Given the description of an element on the screen output the (x, y) to click on. 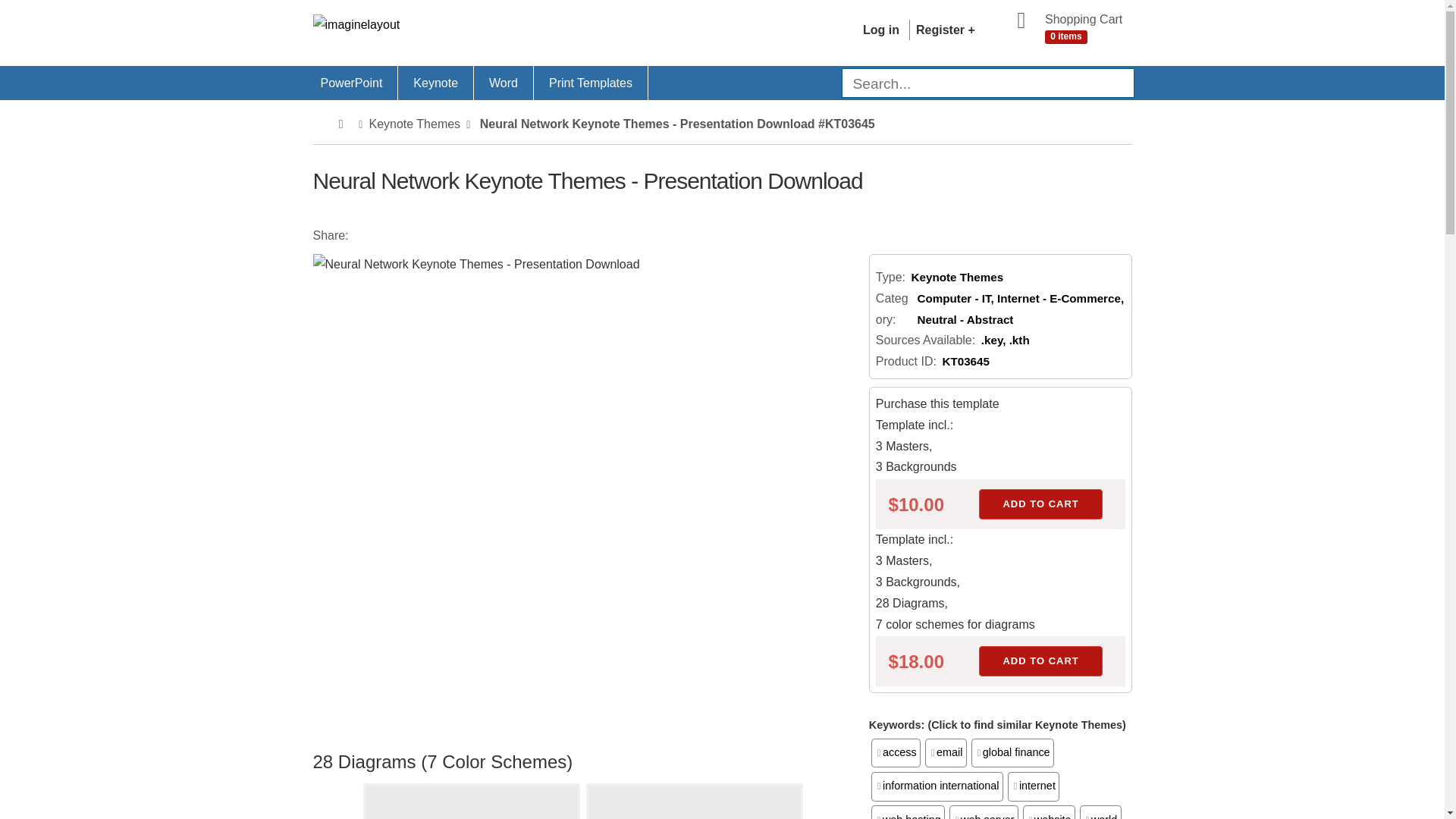
ADD TO CART (1040, 503)
ADD TO CART (1040, 661)
internet - Keynote Themes templates (1033, 786)
Keynote (435, 82)
Add to Cart (1040, 661)
web server - Keynote Themes templates (983, 812)
Keynote Themes (435, 82)
Neutral - Abstract (965, 318)
information international - Keynote Themes templates (936, 786)
web hosting - Keynote Themes templates (907, 812)
imaginelayout (444, 29)
Shopping cart (1063, 29)
information international (936, 786)
access (895, 752)
web server (983, 812)
